Given the description of an element on the screen output the (x, y) to click on. 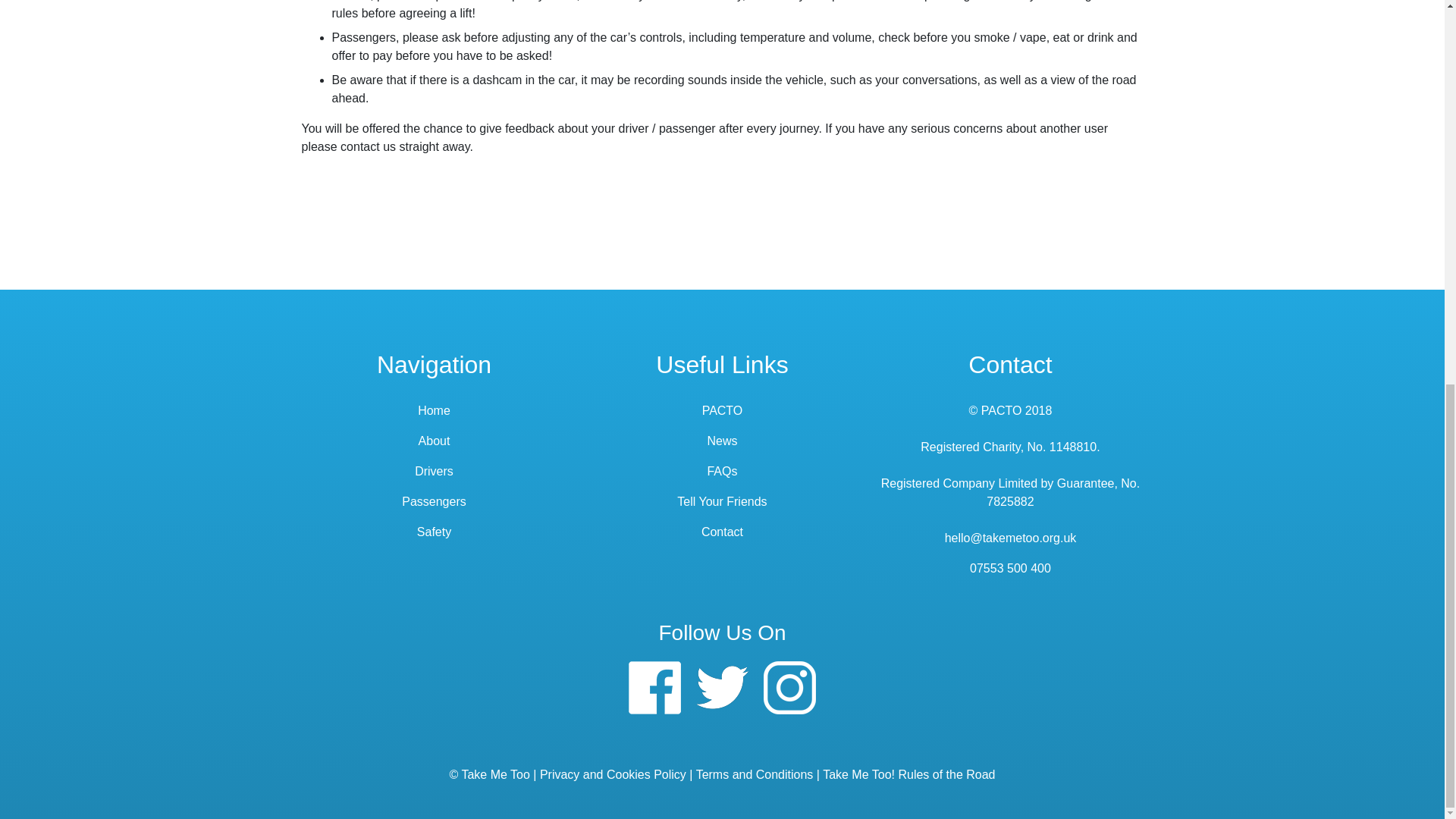
Contact (368, 146)
Privacy and Cookies Policy (612, 774)
PACTO (721, 410)
07553 500 400 (1010, 567)
Drivers (433, 471)
Tell Your Friends (722, 501)
Contact (1009, 364)
Contact (721, 531)
07553 500 400 (1010, 567)
FAQs (721, 471)
